Given the description of an element on the screen output the (x, y) to click on. 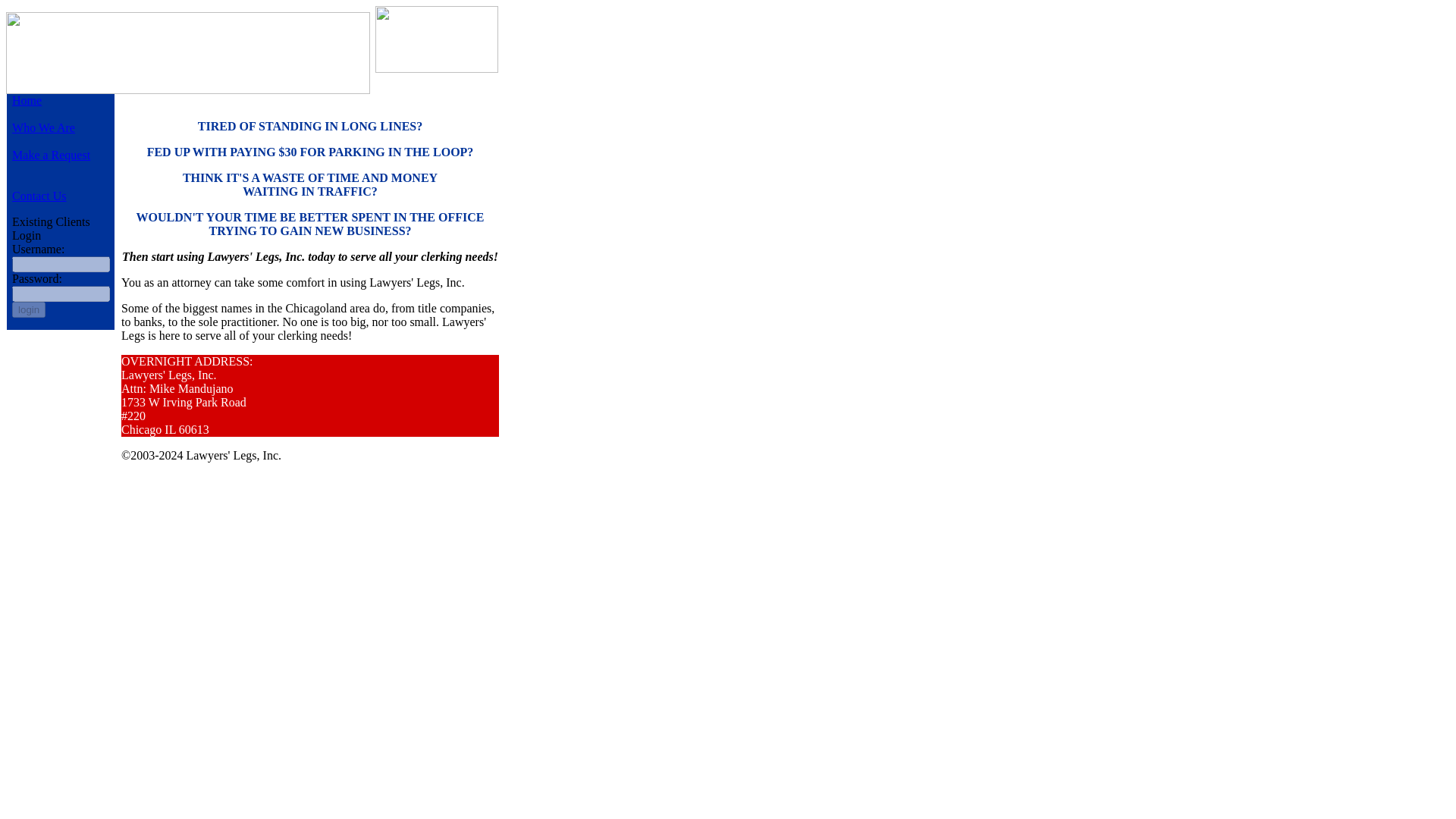
Contact Us (38, 195)
Make a Request (50, 154)
Who We Are (43, 127)
login (28, 309)
login (28, 309)
Home (26, 100)
